Given the description of an element on the screen output the (x, y) to click on. 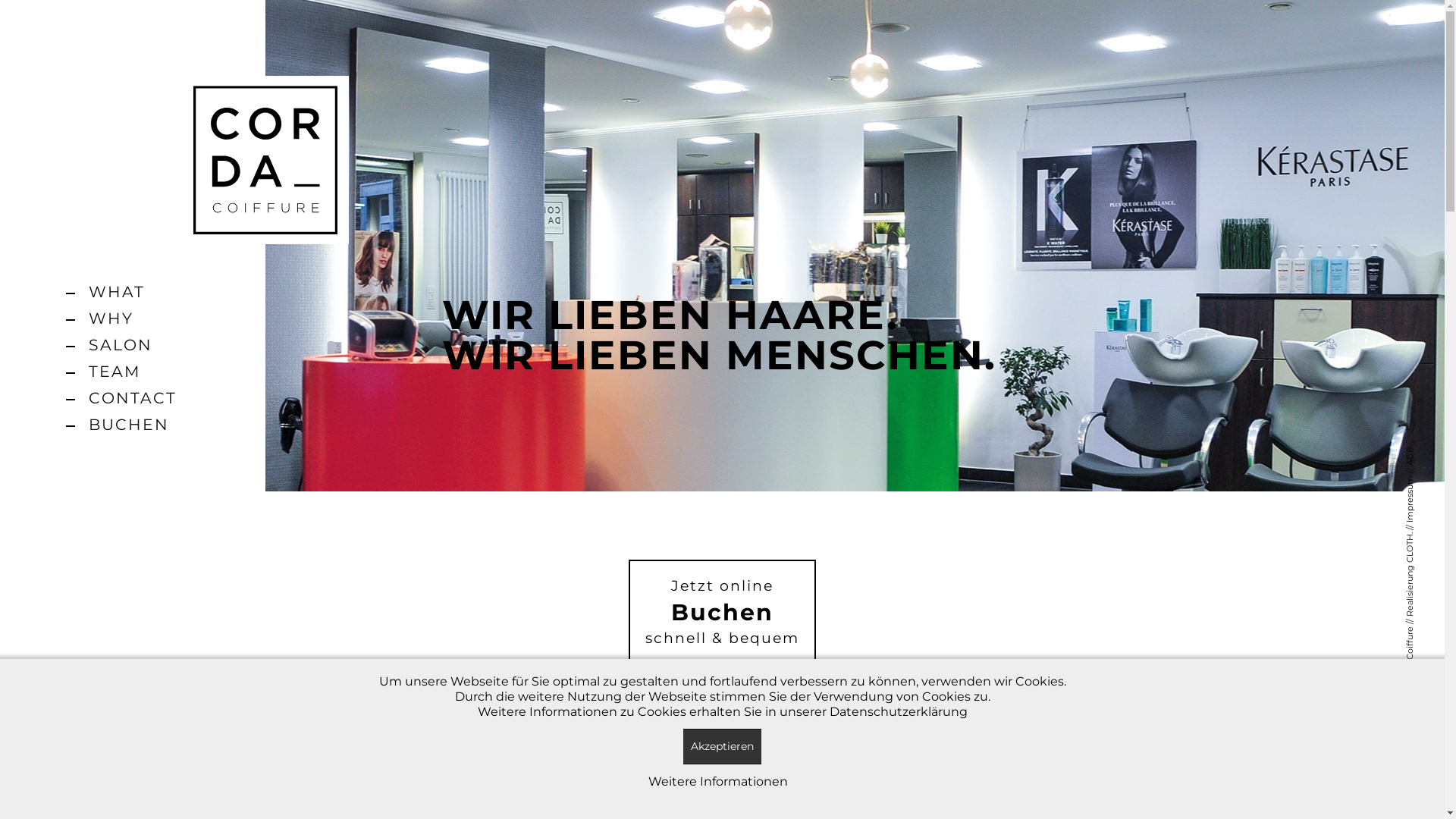
TEAM Element type: text (132, 370)
SALON Element type: text (132, 344)
Jetzt online
Buchen
schnell & bequem Element type: text (721, 612)
AGB Element type: text (1413, 451)
WHY Element type: text (132, 317)
WHAT Element type: text (132, 291)
Impressum Element type: text (1427, 480)
CONTACT Element type: text (132, 397)
BUCHEN Element type: text (132, 424)
Akzeptieren Element type: text (722, 746)
Weitere Informationen Element type: text (717, 781)
